Given the description of an element on the screen output the (x, y) to click on. 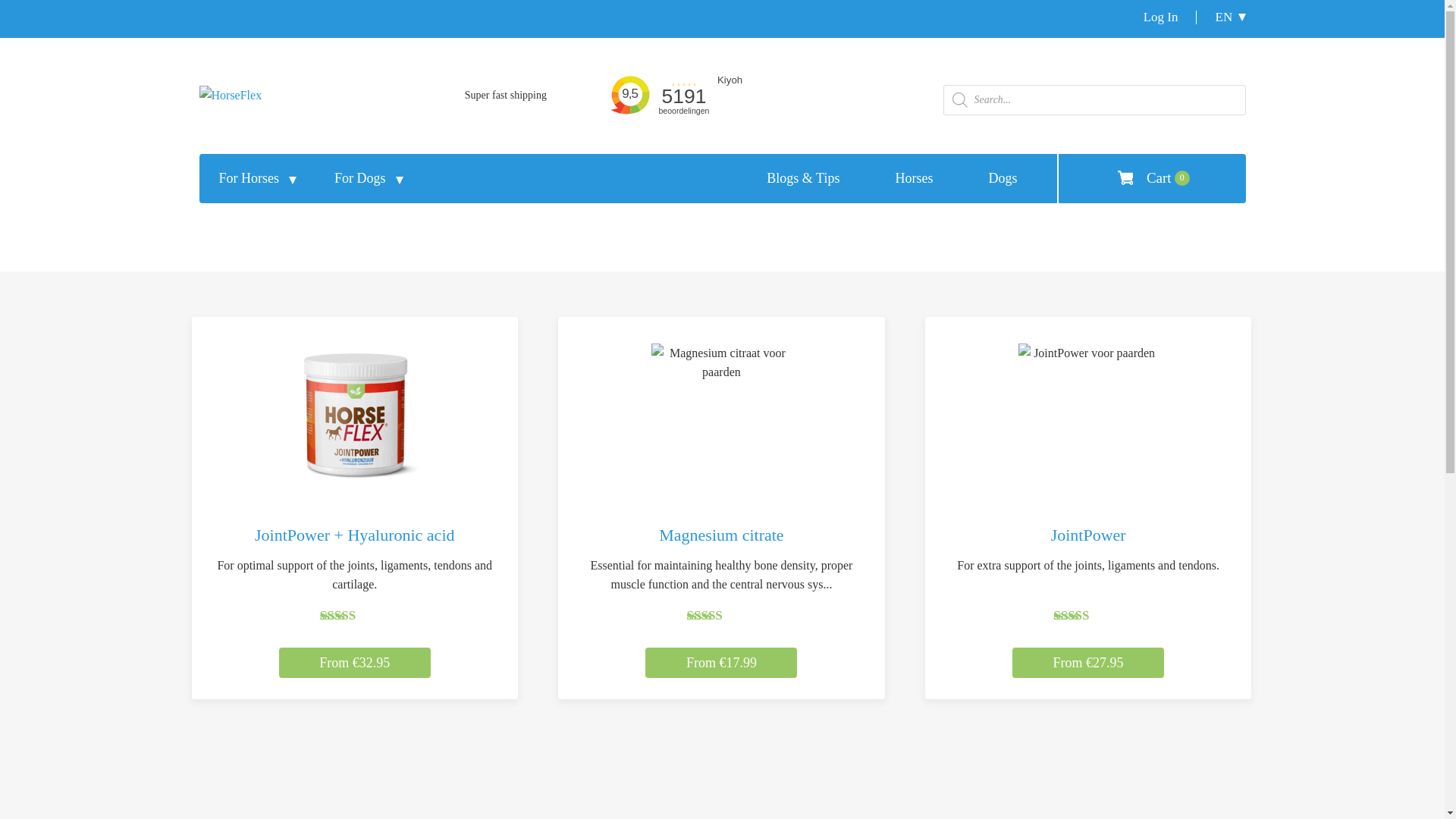
HorseFlex (230, 94)
Log In (1160, 17)
EN (1221, 16)
For Horses (248, 179)
